Given the description of an element on the screen output the (x, y) to click on. 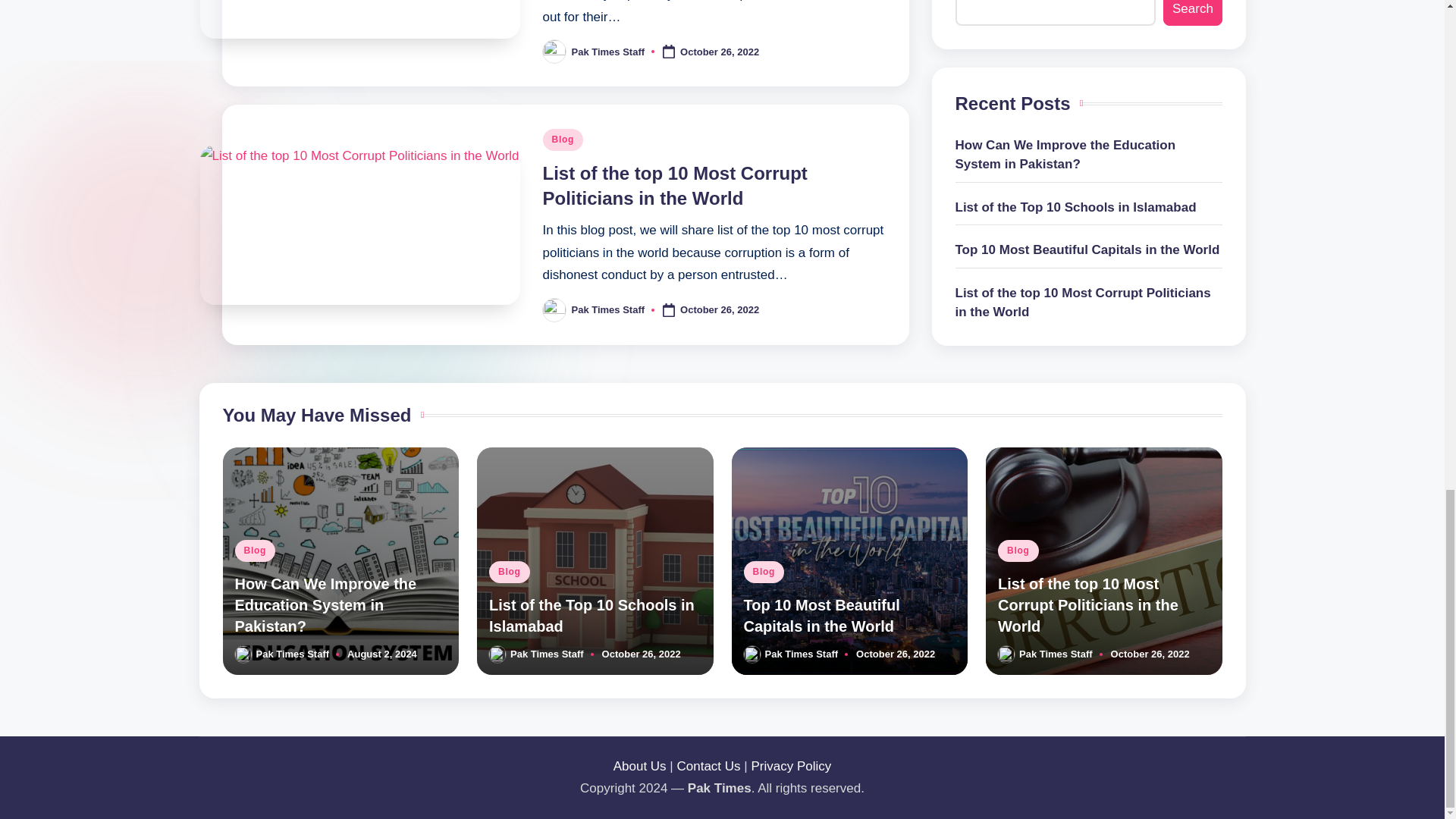
View all posts by Pak Times Staff (608, 50)
View all posts by Pak Times Staff (801, 654)
List of the Top 10 Schools in Islamabad (591, 615)
List of the top 10 Most Corrupt Politicians in the World (675, 185)
View all posts by Pak Times Staff (608, 309)
View all posts by Pak Times Staff (293, 654)
Top 10 Most Beautiful Capitals in the World (820, 615)
View all posts by Pak Times Staff (547, 654)
How Can We Improve the Education System in Pakistan? (325, 604)
